Given the description of an element on the screen output the (x, y) to click on. 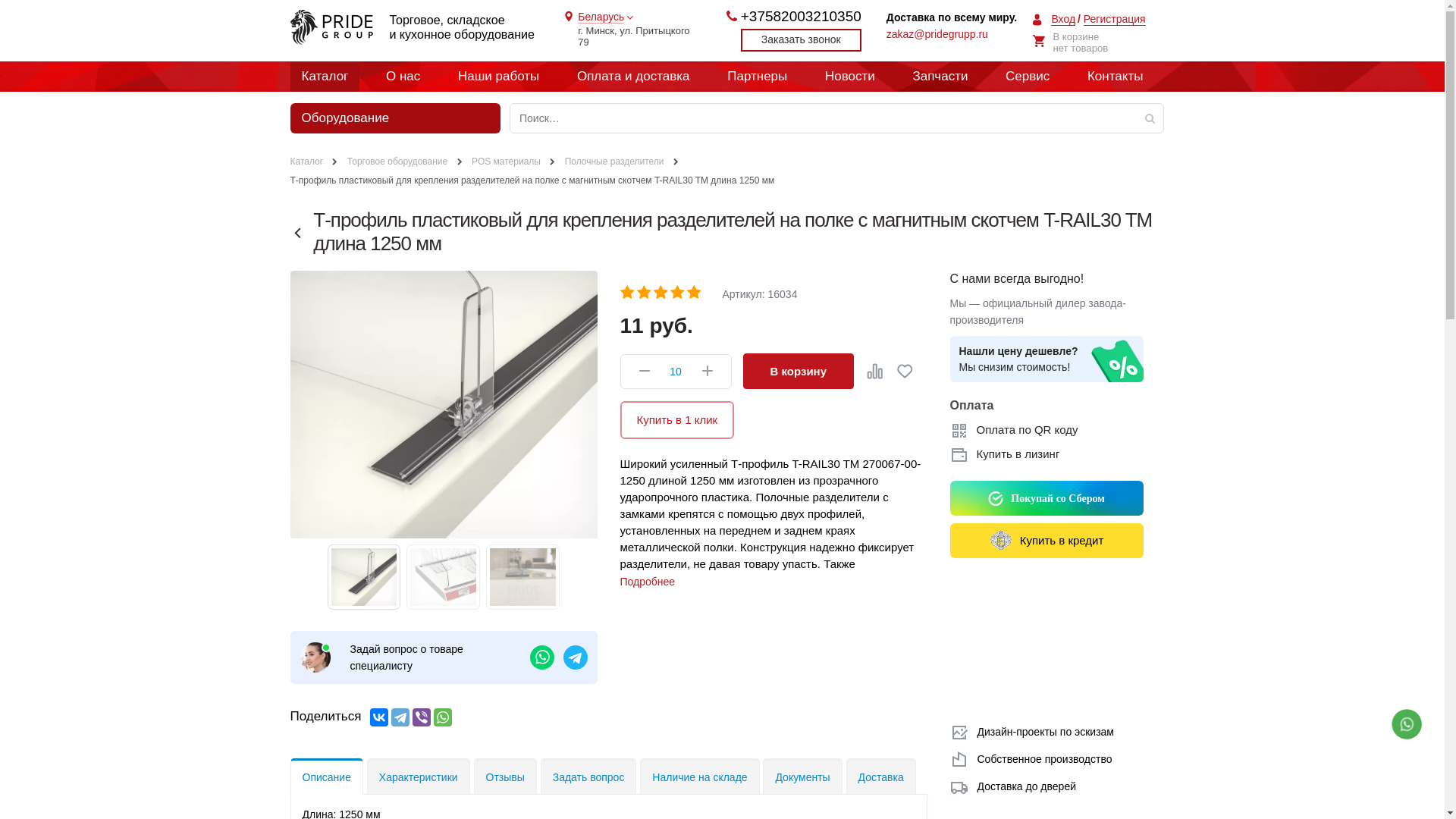
Viber Element type: hover (421, 717)
WhatsApp Element type: hover (442, 717)
1 Element type: hover (627, 292)
Whatsapp Element type: text (1406, 724)
Telegram Element type: hover (400, 717)
2 Element type: hover (644, 292)
4 Element type: hover (677, 292)
Search Element type: hover (1153, 117)
3 Element type: hover (660, 292)
+37582003210350 Element type: text (800, 16)
5 Element type: hover (694, 292)
zakaz@pridegrupp.ru Element type: text (937, 31)
